Given the description of an element on the screen output the (x, y) to click on. 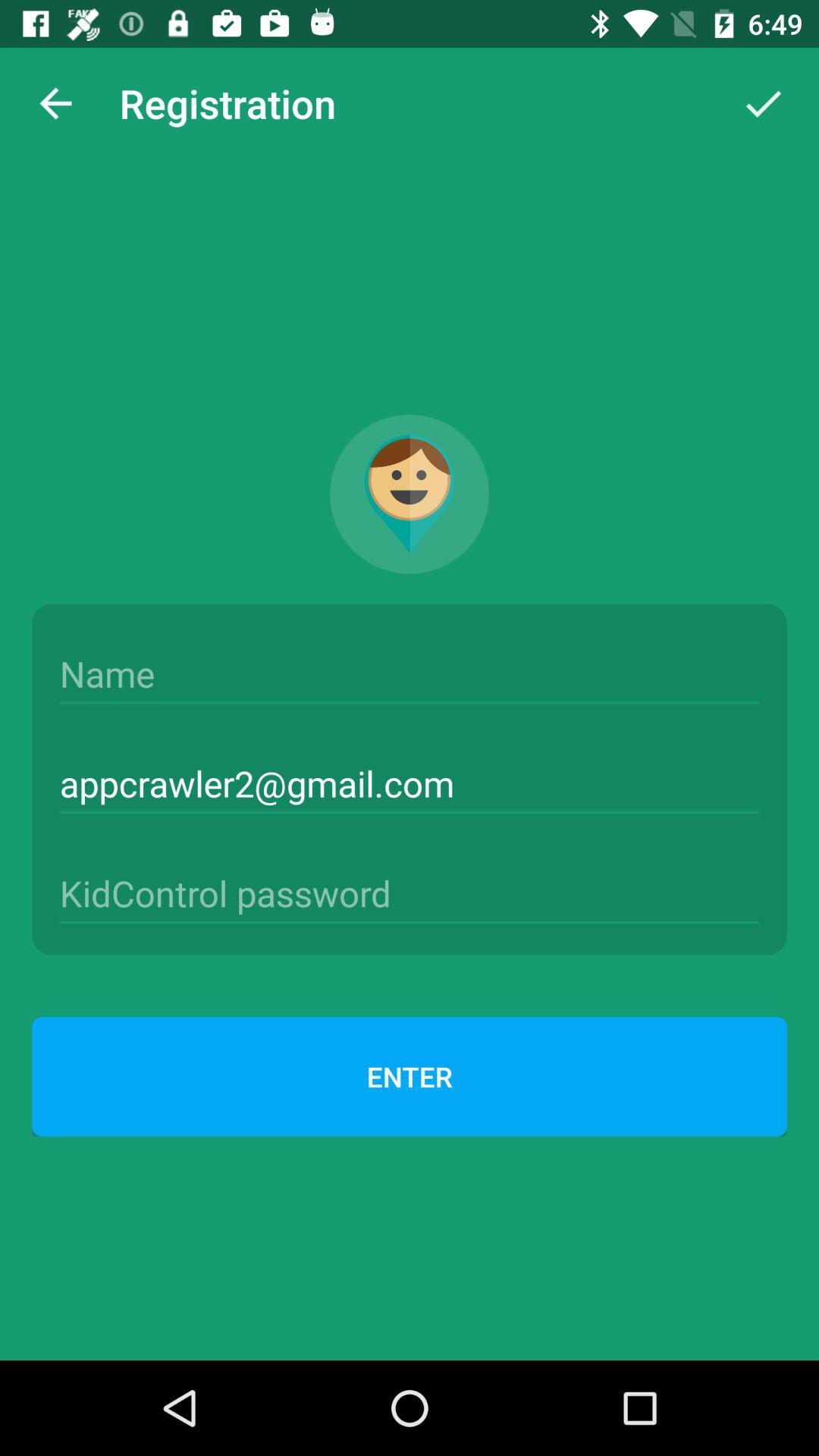
kidcontrol password entry spot (409, 894)
